Given the description of an element on the screen output the (x, y) to click on. 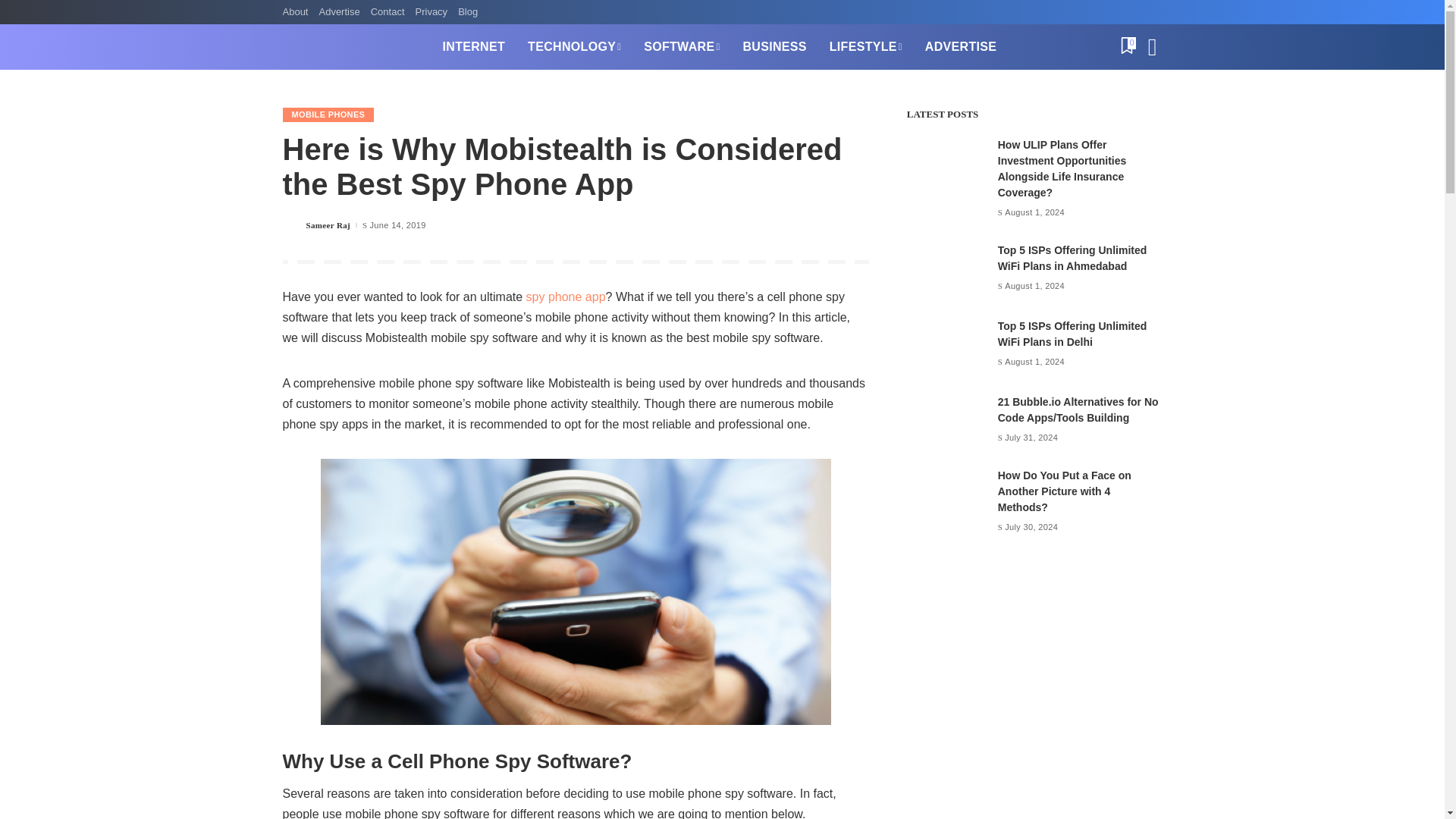
Advertise (339, 11)
BUSINESS (773, 46)
Blog (467, 11)
INTERNET (473, 46)
About (297, 11)
Privacy (430, 11)
Contact (387, 11)
SOFTWARE (680, 46)
Supportive Guru (350, 46)
LIFESTYLE (866, 46)
TECHNOLOGY (573, 46)
